Given the description of an element on the screen output the (x, y) to click on. 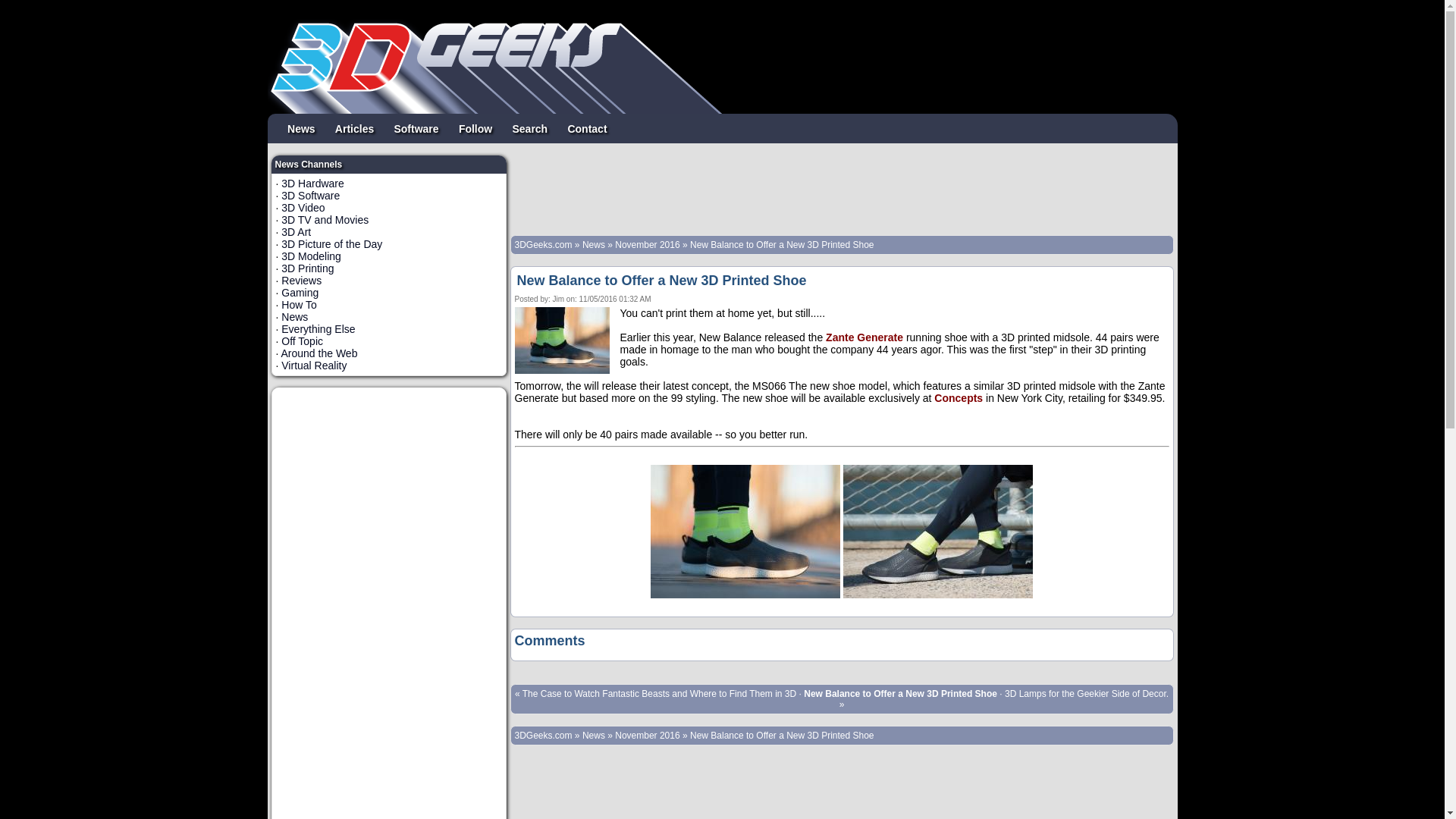
3D Lamps for the Geekier Side of Decor. Element type: text (1086, 693)
Concepts Element type: text (958, 398)
3DGeeks.com Element type: text (544, 735)
Zante Generate Element type: text (864, 337)
3D TV and Movies Element type: text (324, 219)
New Balance to Offer a New 3D Printed Shoe Element type: text (782, 735)
November 2016 Element type: text (647, 244)
3D Art Element type: text (295, 231)
3D Hardware Element type: text (312, 183)
Virtual Reality Element type: text (313, 365)
Everything Else Element type: text (317, 329)
Articles Element type: text (354, 128)
Off Topic Element type: text (302, 341)
News Element type: text (593, 735)
3D Picture of the Day Element type: text (331, 244)
New Balance to Offer a New 3D Printed Shoe Element type: text (782, 244)
3D Printing Element type: text (307, 268)
News Element type: text (294, 316)
new-balance-concepts-3d-printed-shoe-5.jpg Element type: hover (937, 594)
3D Video Element type: text (302, 207)
Advertisement Element type: hover (840, 189)
Around the Web Element type: text (319, 353)
November 2016 Element type: text (647, 735)
Gaming Element type: text (299, 292)
3D Modeling Element type: text (311, 256)
How To Element type: text (298, 304)
new-balance-concepts-3d-printed-shoe-1.jpg Element type: hover (745, 594)
Search Element type: text (529, 128)
3DGeeks.com Element type: text (544, 244)
Contact Element type: text (586, 128)
New Balance to Offer a New 3D Printed Shoe Element type: text (661, 280)
Follow Element type: text (475, 128)
3D Software Element type: text (310, 195)
Software Element type: text (416, 128)
News Element type: text (301, 128)
News Element type: text (593, 244)
Reviews Element type: text (301, 280)
